Given the description of an element on the screen output the (x, y) to click on. 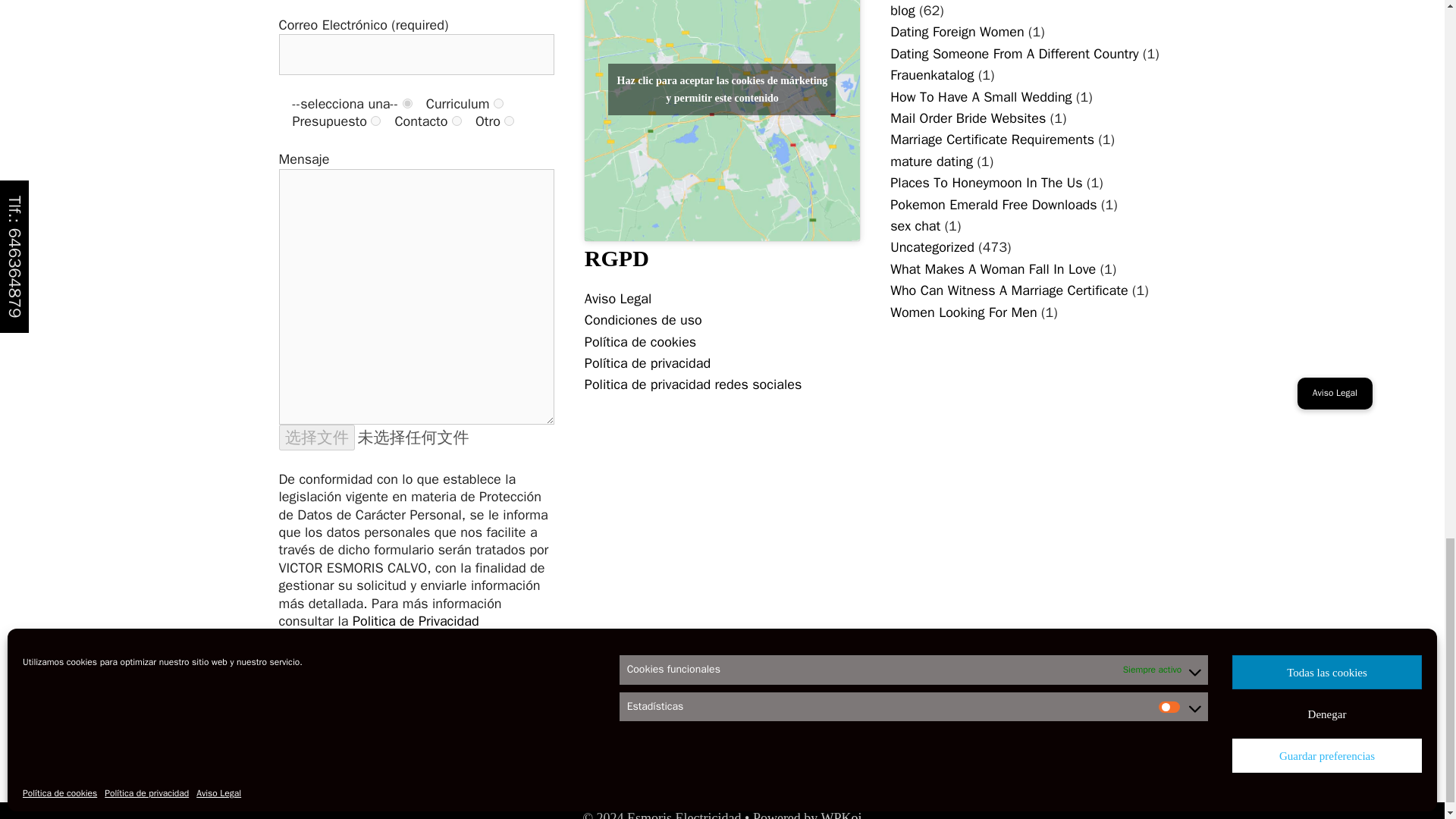
Contacto (456, 121)
Presupuesto (375, 121)
Condiciones de uso (643, 320)
Curriculum (498, 103)
Otro (508, 121)
Aviso Legal (617, 298)
--selecciona una-- (407, 103)
Politica de Privacidad (415, 620)
Enviar (315, 724)
Enviar (315, 724)
